Given the description of an element on the screen output the (x, y) to click on. 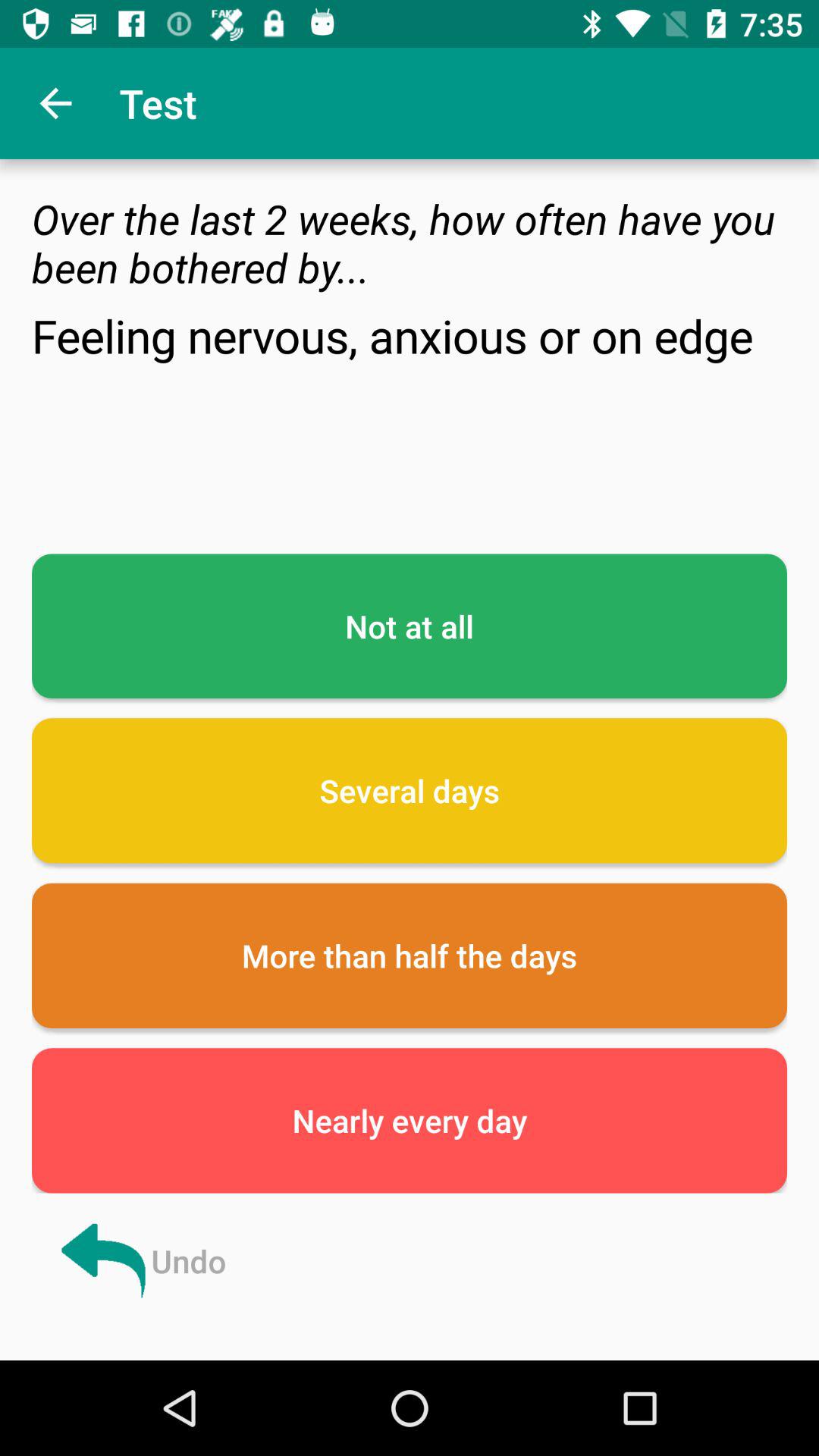
click item next to the test app (55, 103)
